Given the description of an element on the screen output the (x, y) to click on. 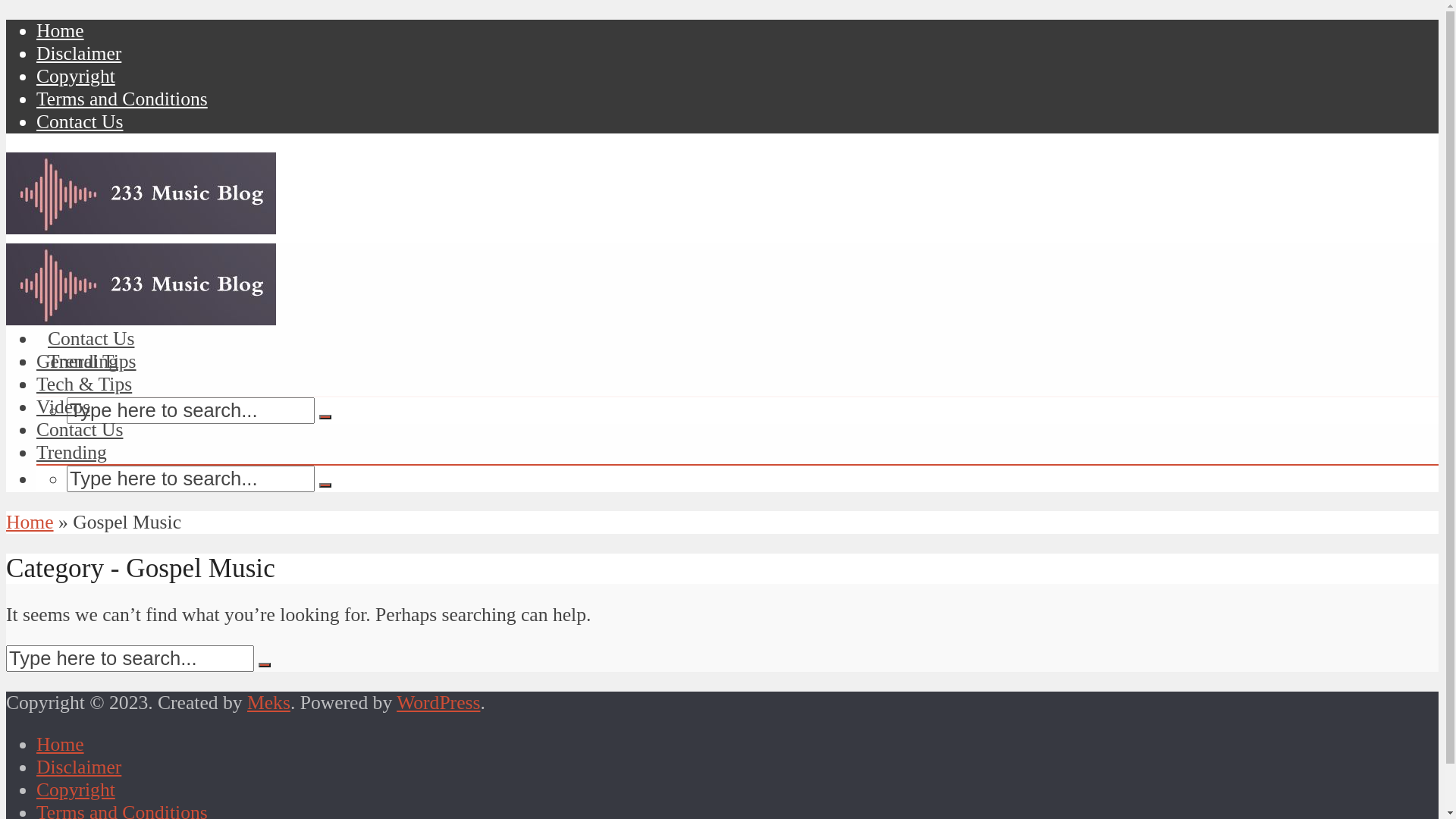
Trending Element type: text (82, 361)
General Tips Element type: text (86, 361)
Contact Us Element type: text (79, 429)
Videos Element type: text (74, 315)
Meks Element type: text (268, 702)
Tech & Tips Element type: text (95, 293)
Copyright Element type: text (75, 789)
Trending Element type: text (71, 452)
Home Element type: text (60, 744)
Copyright Element type: text (75, 76)
Tech & Tips Element type: text (83, 384)
Contact Us Element type: text (90, 338)
Home Element type: text (60, 30)
Disclaimer Element type: text (78, 53)
Disclaimer Element type: text (78, 767)
General Tips Element type: text (97, 270)
Videos Element type: text (63, 406)
Terms and Conditions Element type: text (121, 98)
Contact Us Element type: text (79, 121)
WordPress Element type: text (438, 702)
Home Element type: text (29, 522)
